Given the description of an element on the screen output the (x, y) to click on. 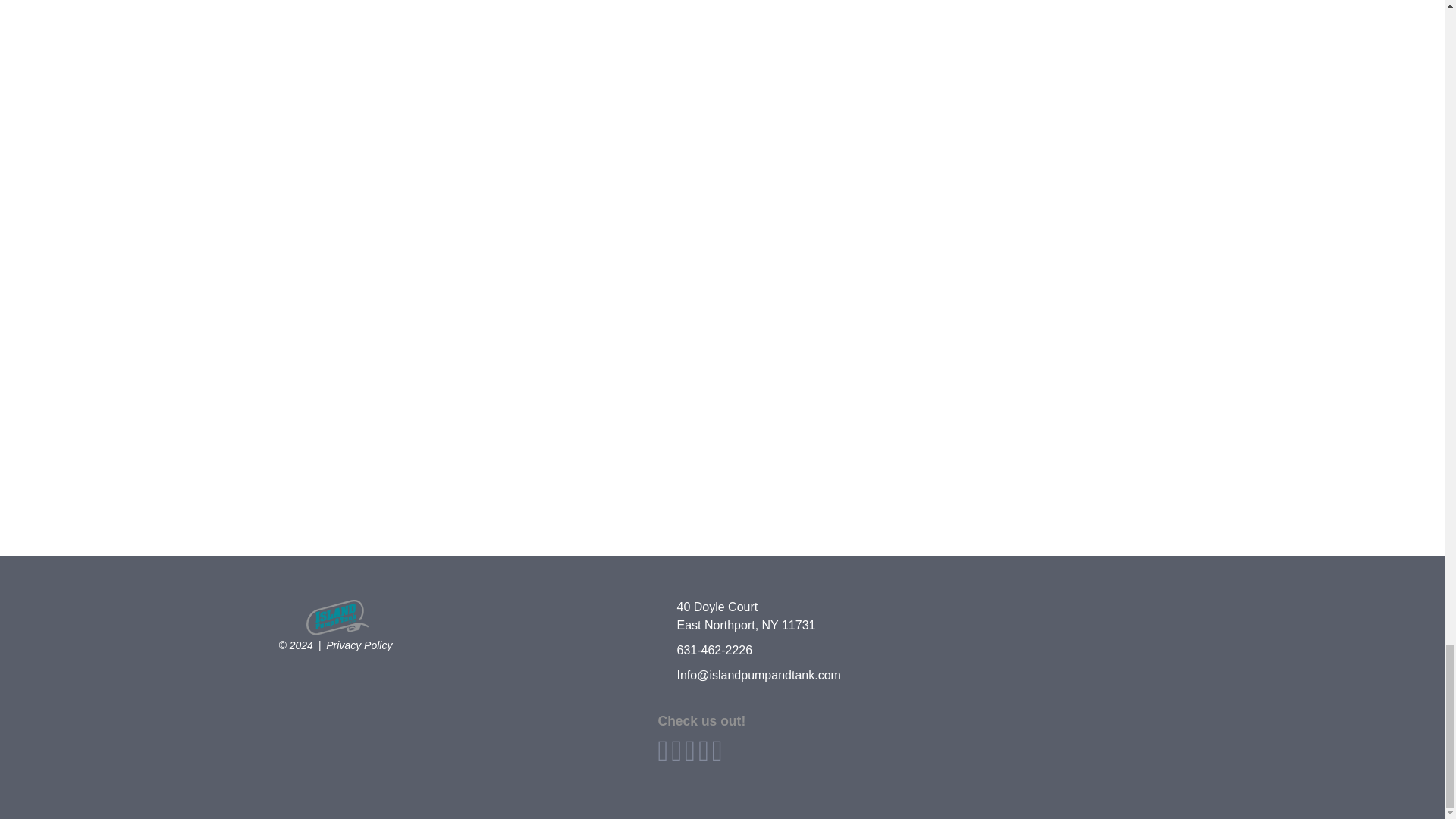
Find us on Facebook (377, 12)
Follow us on Twitter (377, 138)
Follow us on Instagram (377, 351)
